Given the description of an element on the screen output the (x, y) to click on. 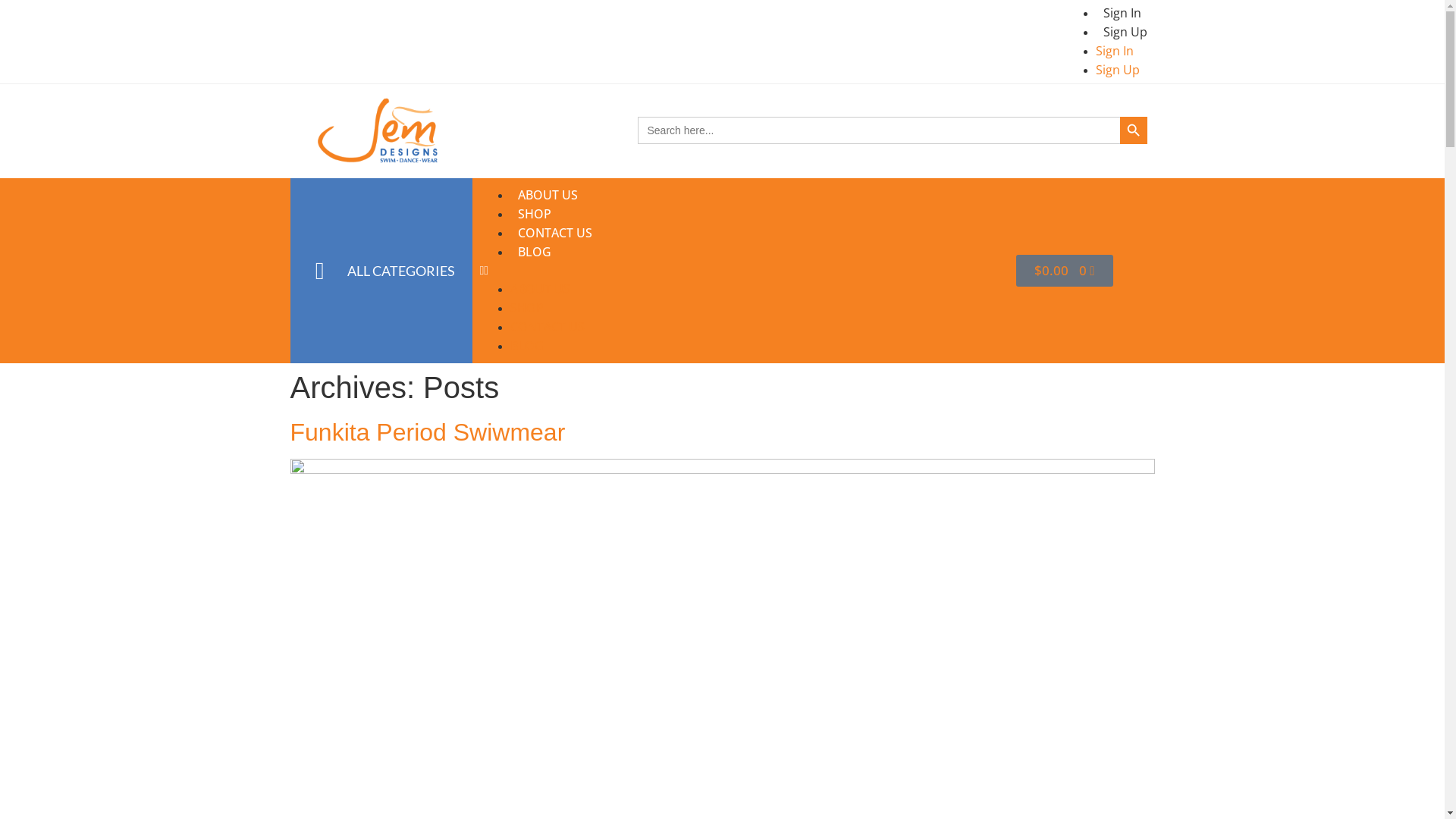
BLOG Element type: text (533, 250)
$0.00 0 Element type: text (1064, 270)
ABOUT US Element type: text (546, 194)
Sign In Element type: text (1121, 12)
CONTACT US Element type: text (546, 326)
CONTACT US Element type: text (554, 232)
Sign Up Element type: text (1124, 31)
Funkita Period Swiwmear Element type: text (426, 431)
Search Button Element type: text (1132, 130)
SHOP Element type: text (525, 306)
Sign In Element type: text (1113, 50)
SHOP Element type: text (533, 212)
ABOUT US Element type: text (539, 288)
BLOG Element type: text (525, 344)
ALL CATEGORIES Element type: text (401, 270)
Sign Up Element type: text (1117, 69)
